Given the description of an element on the screen output the (x, y) to click on. 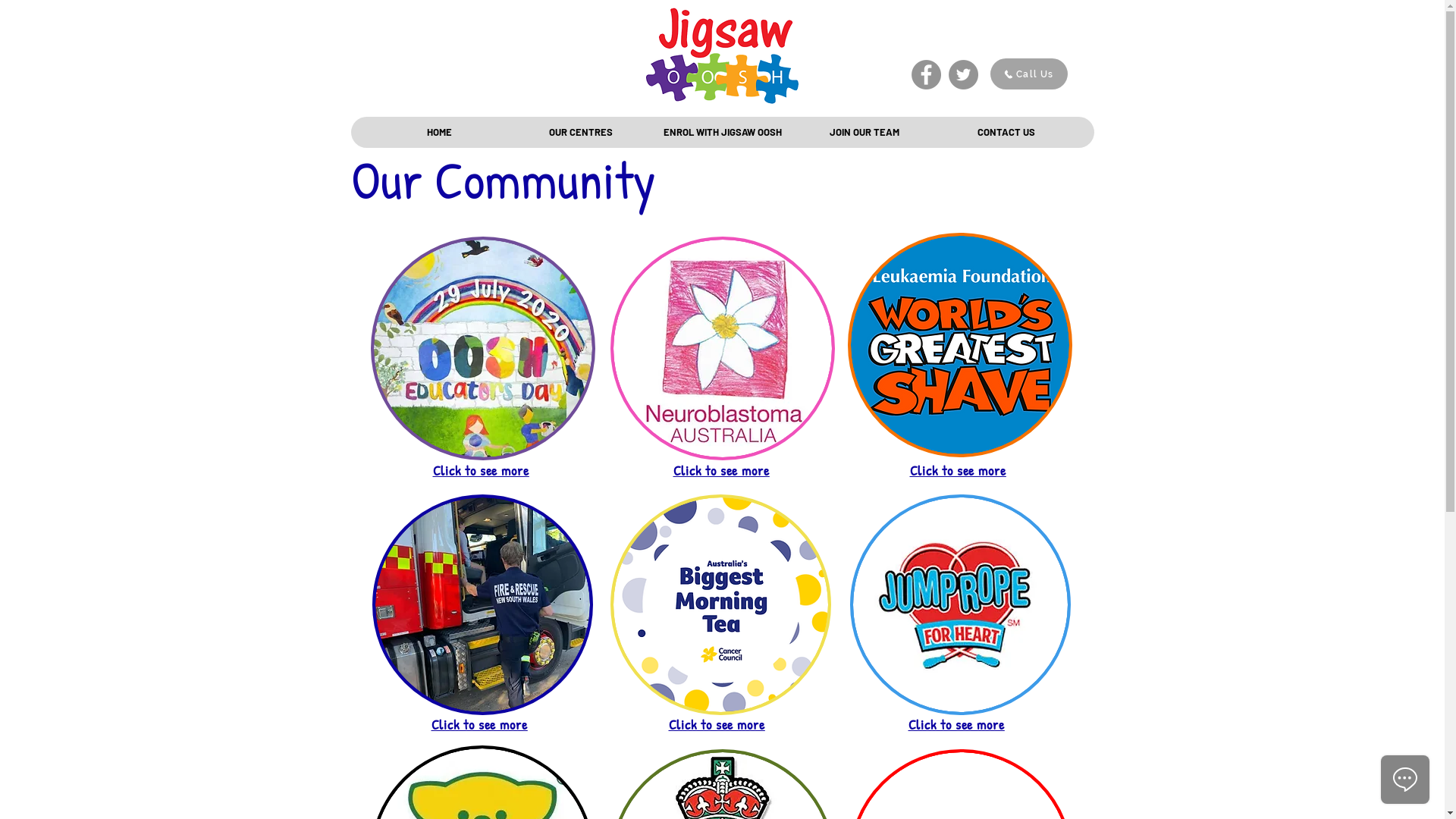
Click to see more Element type: text (716, 723)
OUR CENTRES Element type: text (580, 131)
CONTACT US Element type: text (1005, 131)
Click to see more Element type: text (958, 469)
Click to see more Element type: text (478, 723)
JOIN OUR TEAM Element type: text (864, 131)
Click to see more Element type: text (956, 723)
Click to see more Element type: text (480, 469)
HOME Element type: text (438, 131)
ENROL WITH JIGSAW OOSH Element type: text (722, 131)
Call Us Element type: text (1028, 73)
Click to see more Element type: text (721, 469)
